Given the description of an element on the screen output the (x, y) to click on. 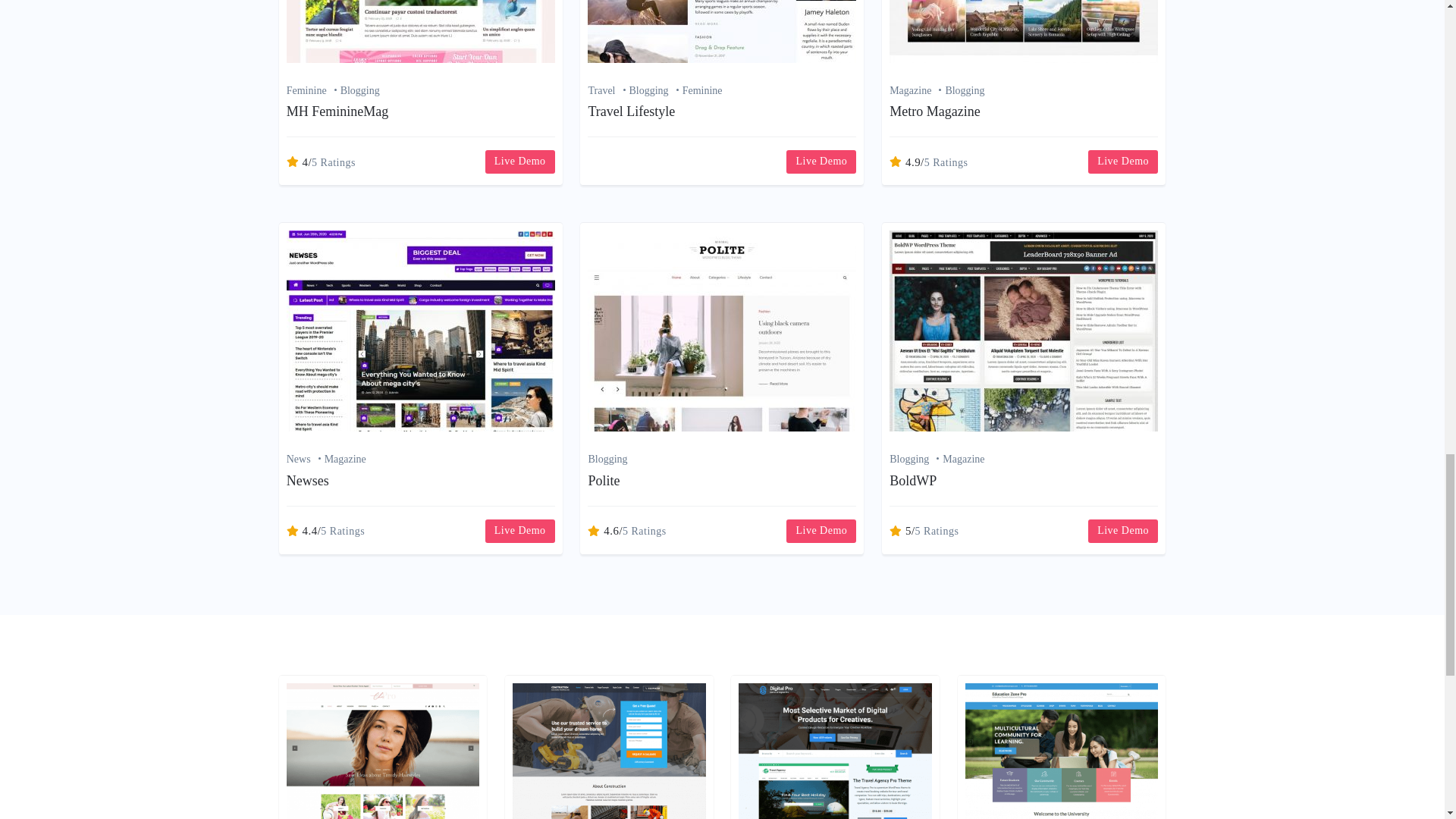
Live Demo (519, 161)
MH FeminineMag (337, 111)
Feminine (313, 90)
Live Demo (821, 161)
Feminine (702, 90)
Travel (608, 90)
Magazine (916, 90)
Blogging (964, 90)
Metro Magazine (934, 111)
Blogging (655, 90)
Blogging (360, 90)
Travel Lifestyle (631, 111)
